Given the description of an element on the screen output the (x, y) to click on. 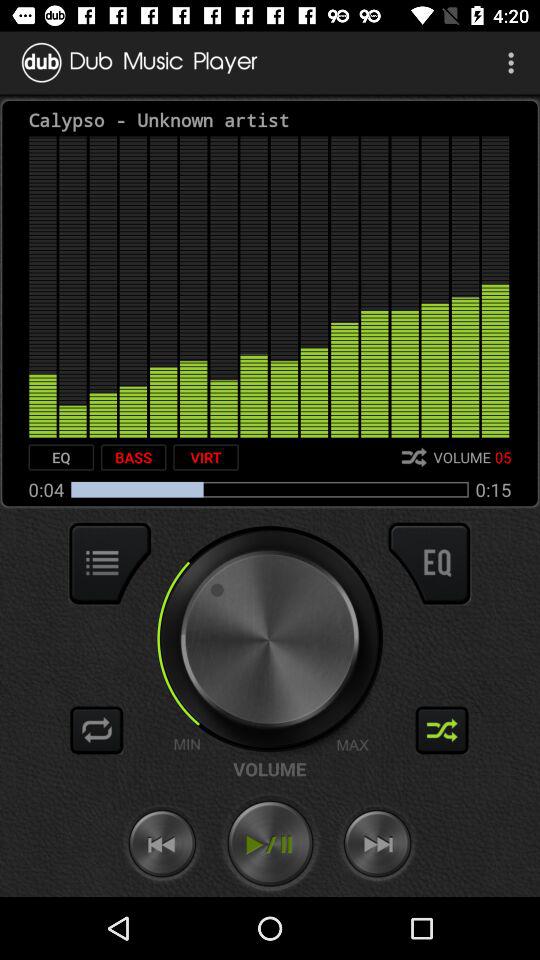
press the  bass (133, 457)
